Given the description of an element on the screen output the (x, y) to click on. 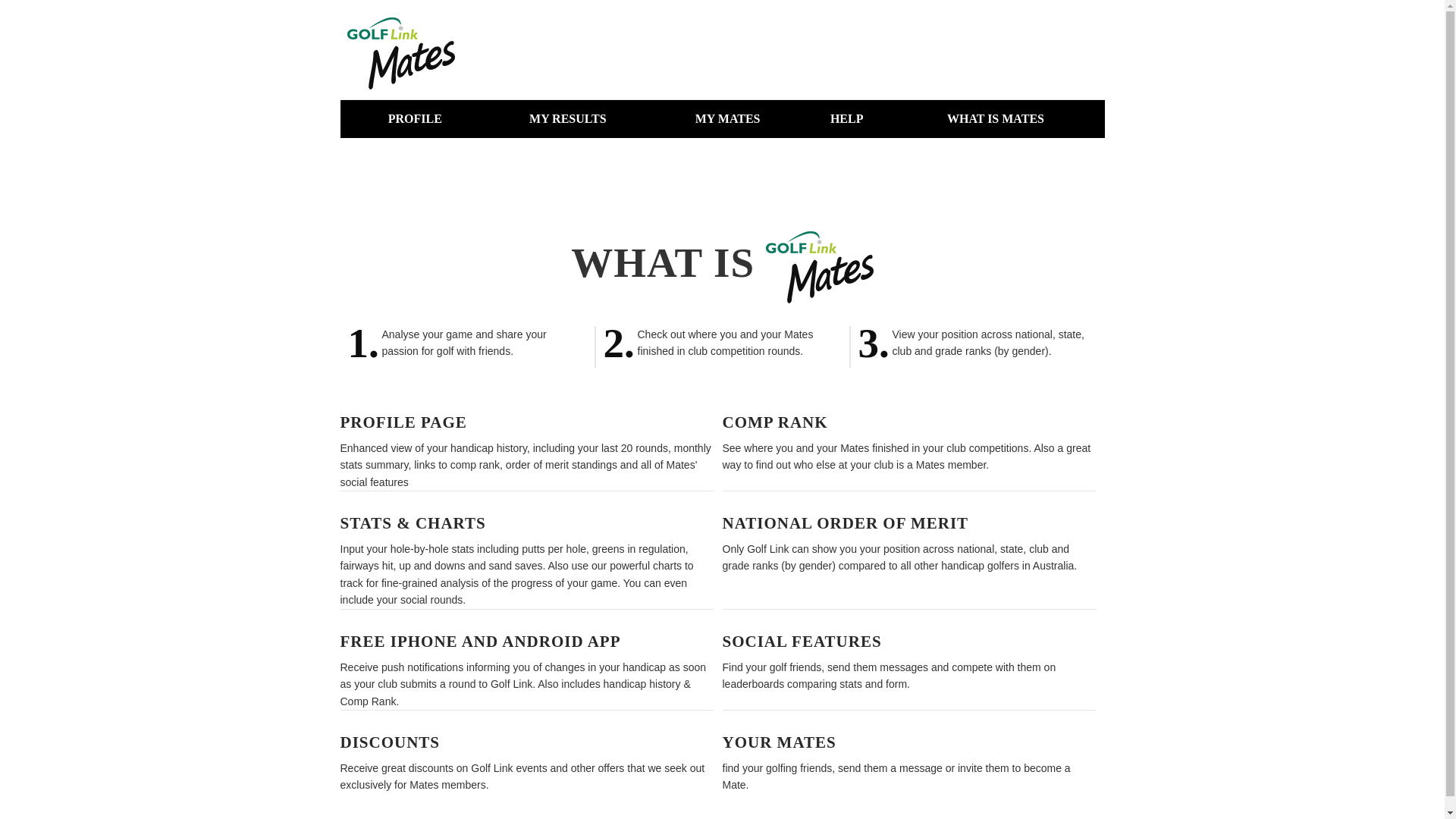
WHAT IS MATES Element type: text (995, 119)
MY MATES Element type: text (727, 119)
PROFILE Element type: text (414, 119)
MY RESULTS Element type: text (567, 119)
HELP Element type: text (846, 119)
